Given the description of an element on the screen output the (x, y) to click on. 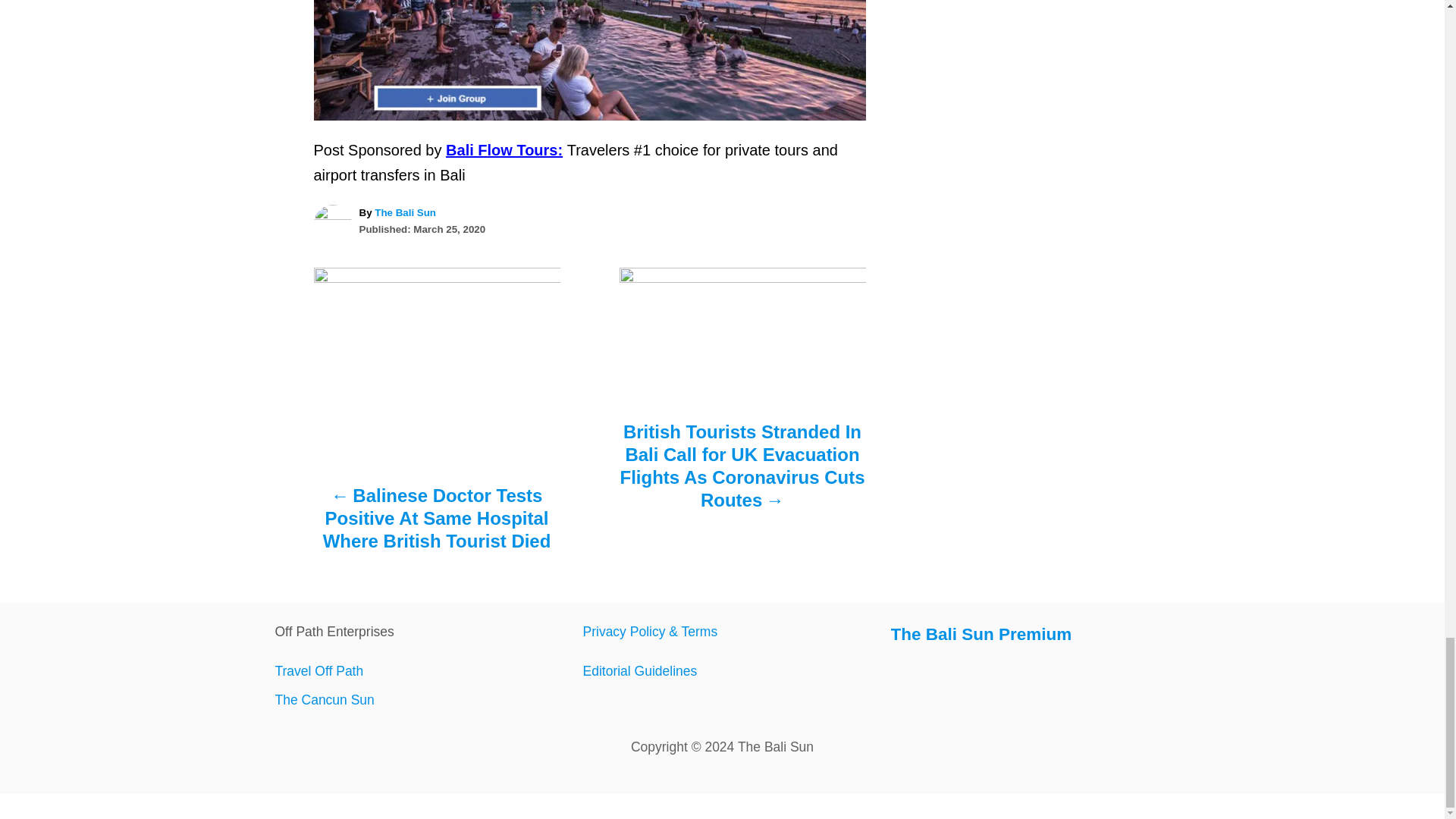
The Bali Sun (404, 212)
Bali Flow Tours: (503, 149)
